Given the description of an element on the screen output the (x, y) to click on. 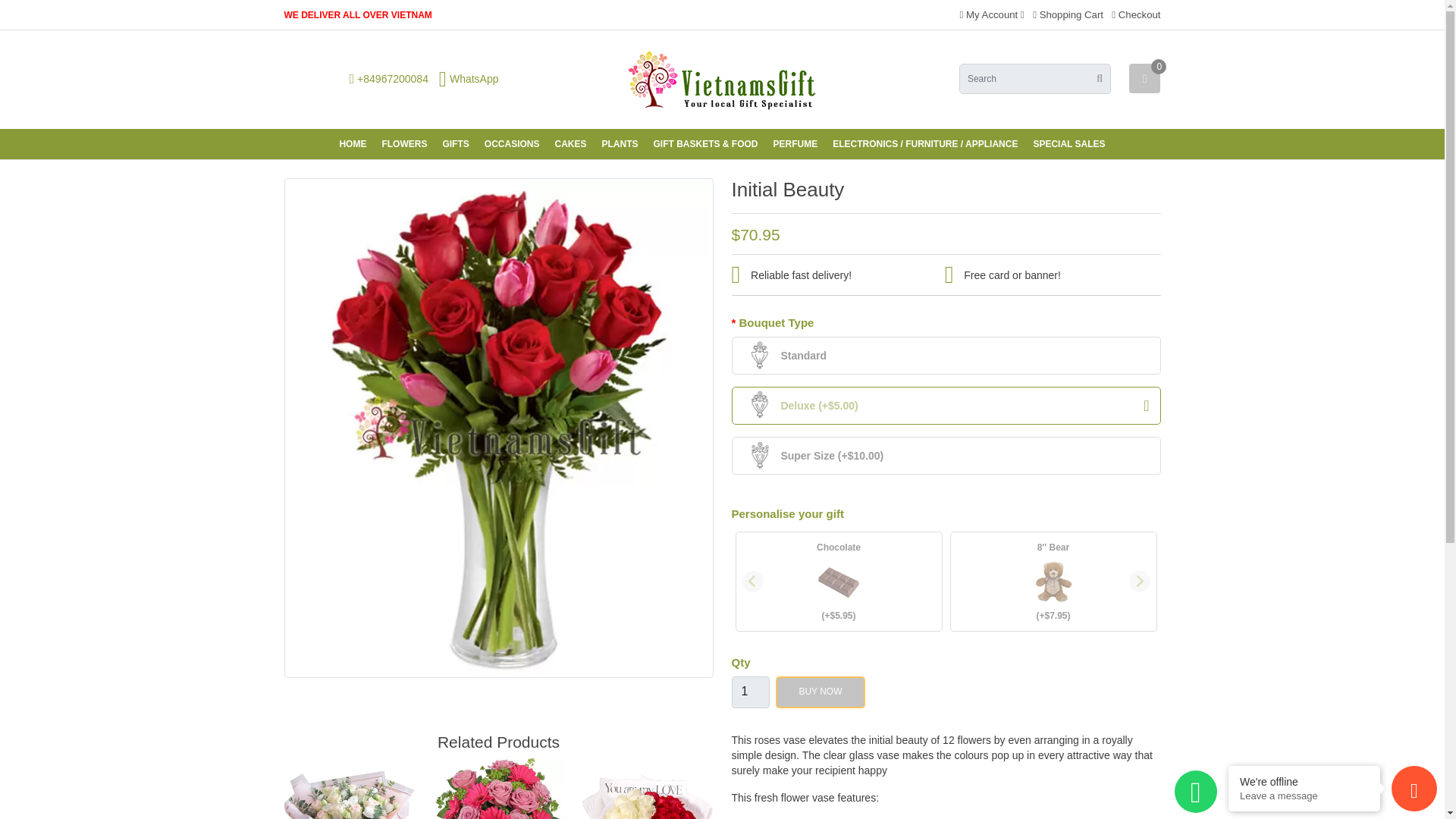
My Account (992, 14)
FLOWERS (403, 143)
Shopping Cart (1067, 14)
We're offline (1304, 781)
My Lady (498, 788)
Beautiful Illusion (647, 788)
1 (749, 692)
Checkout (1136, 14)
HOME (352, 143)
Shopping Cart (1067, 14)
